Given the description of an element on the screen output the (x, y) to click on. 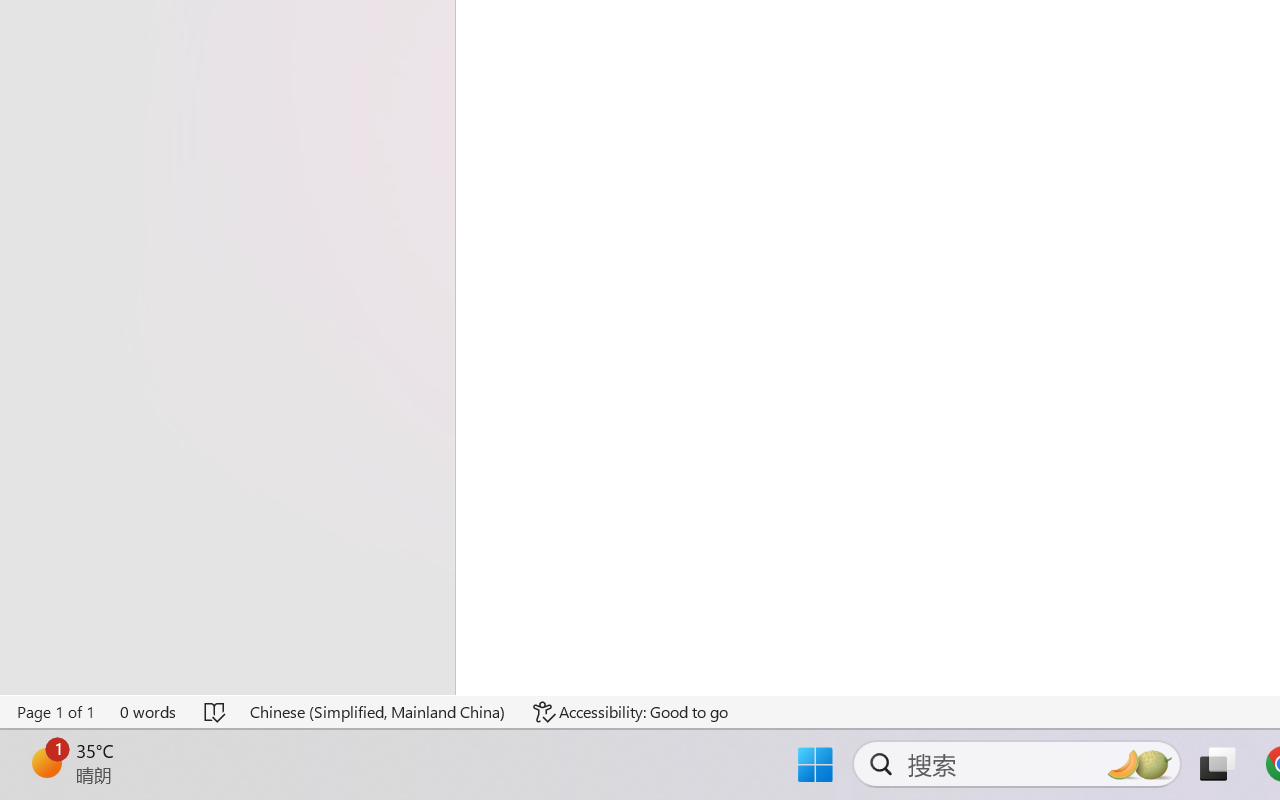
Language Chinese (Simplified, Mainland China) (378, 712)
